Given the description of an element on the screen output the (x, y) to click on. 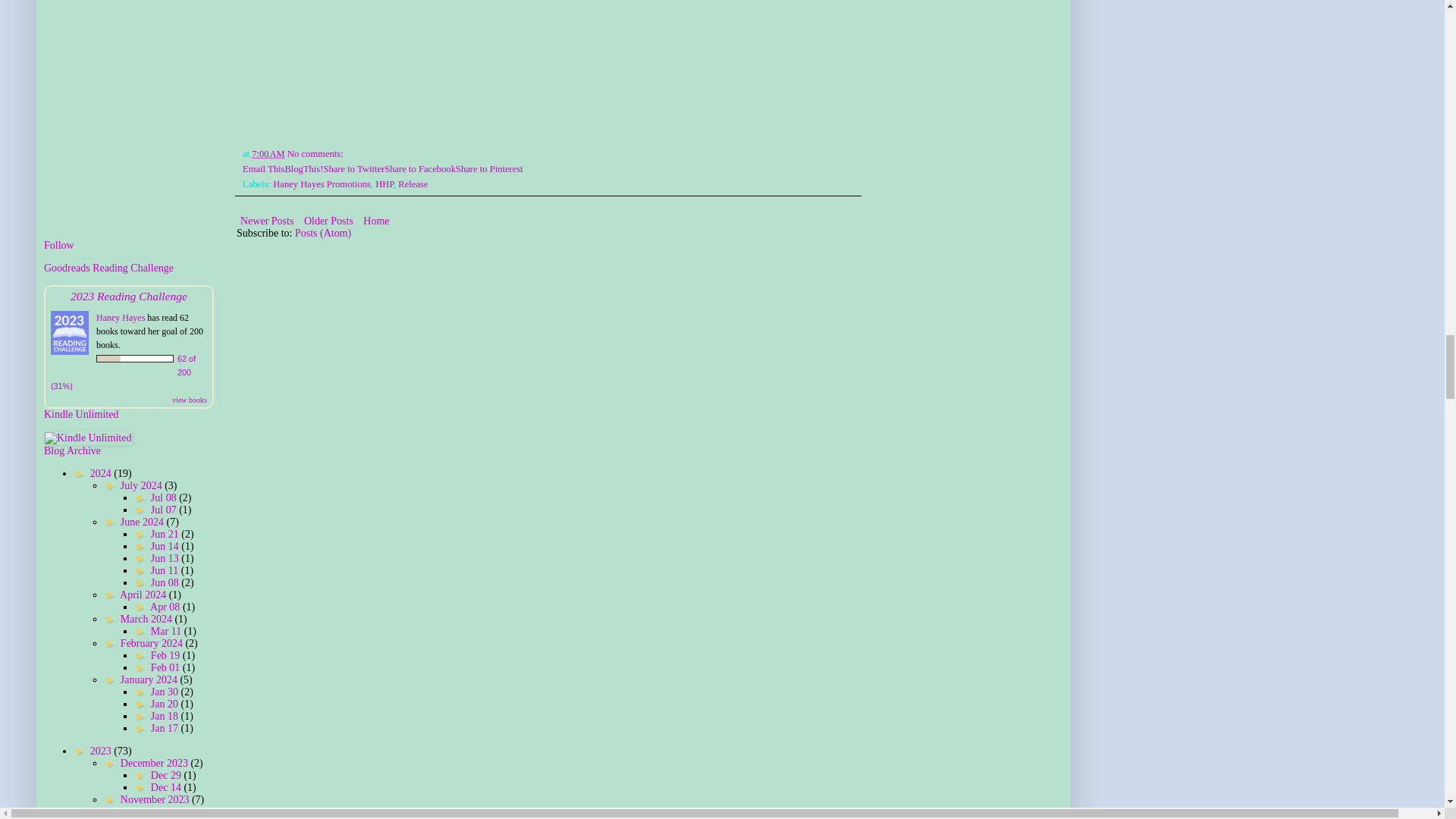
Share to Facebook (419, 168)
BlogThis! (303, 168)
Share to Twitter (353, 168)
Email This (263, 168)
No comments: (316, 153)
Share to Facebook (419, 168)
Share to Pinterest (488, 168)
Email Post (352, 153)
Email This (263, 168)
BlogThis! (303, 168)
Older Posts (327, 220)
Newer Posts (266, 220)
permanent link (268, 153)
Share to Twitter (353, 168)
